Given the description of an element on the screen output the (x, y) to click on. 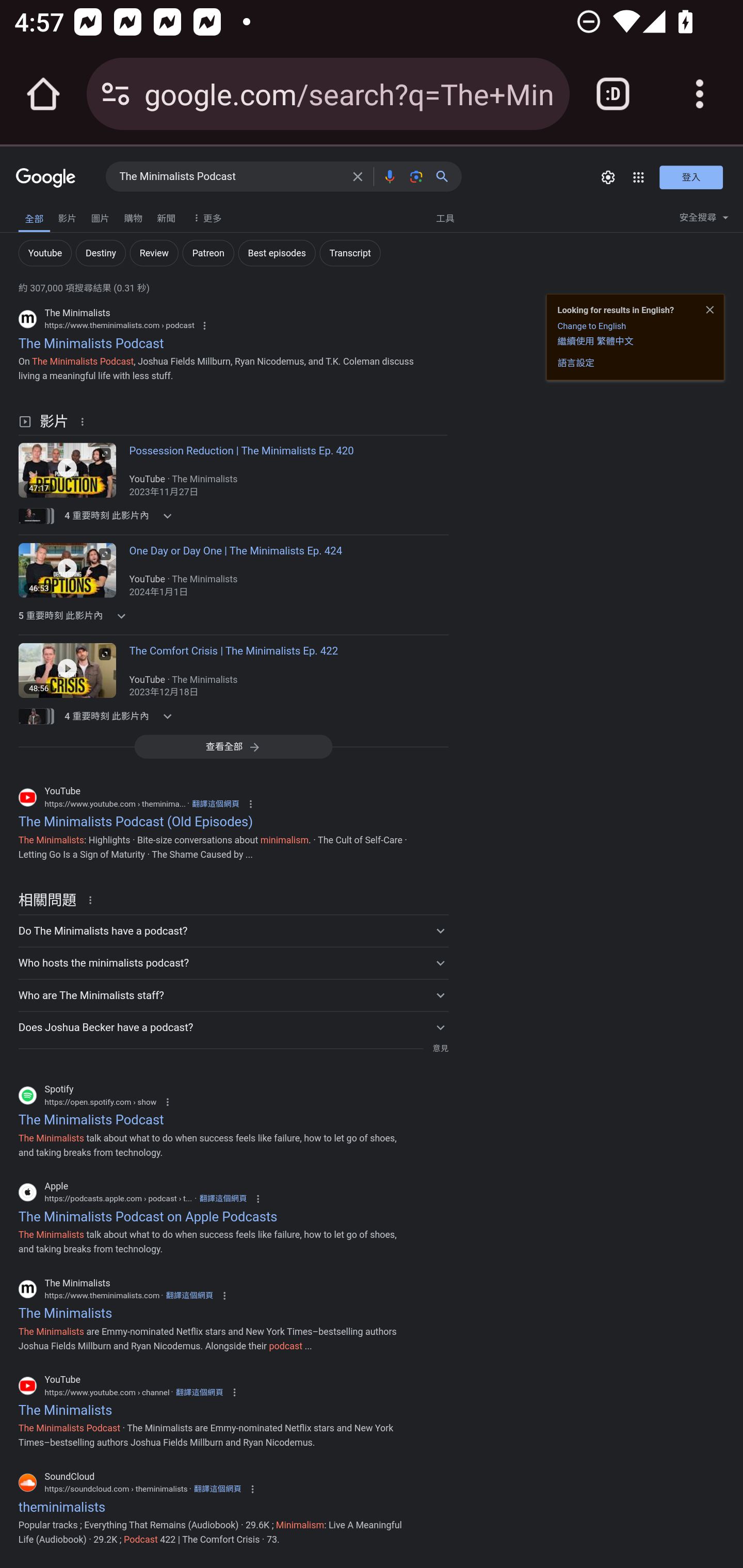
Open the home page (43, 93)
Connection is secure (115, 93)
Switch or close tabs (612, 93)
Customize and control Google Chrome (699, 93)
